Given the description of an element on the screen output the (x, y) to click on. 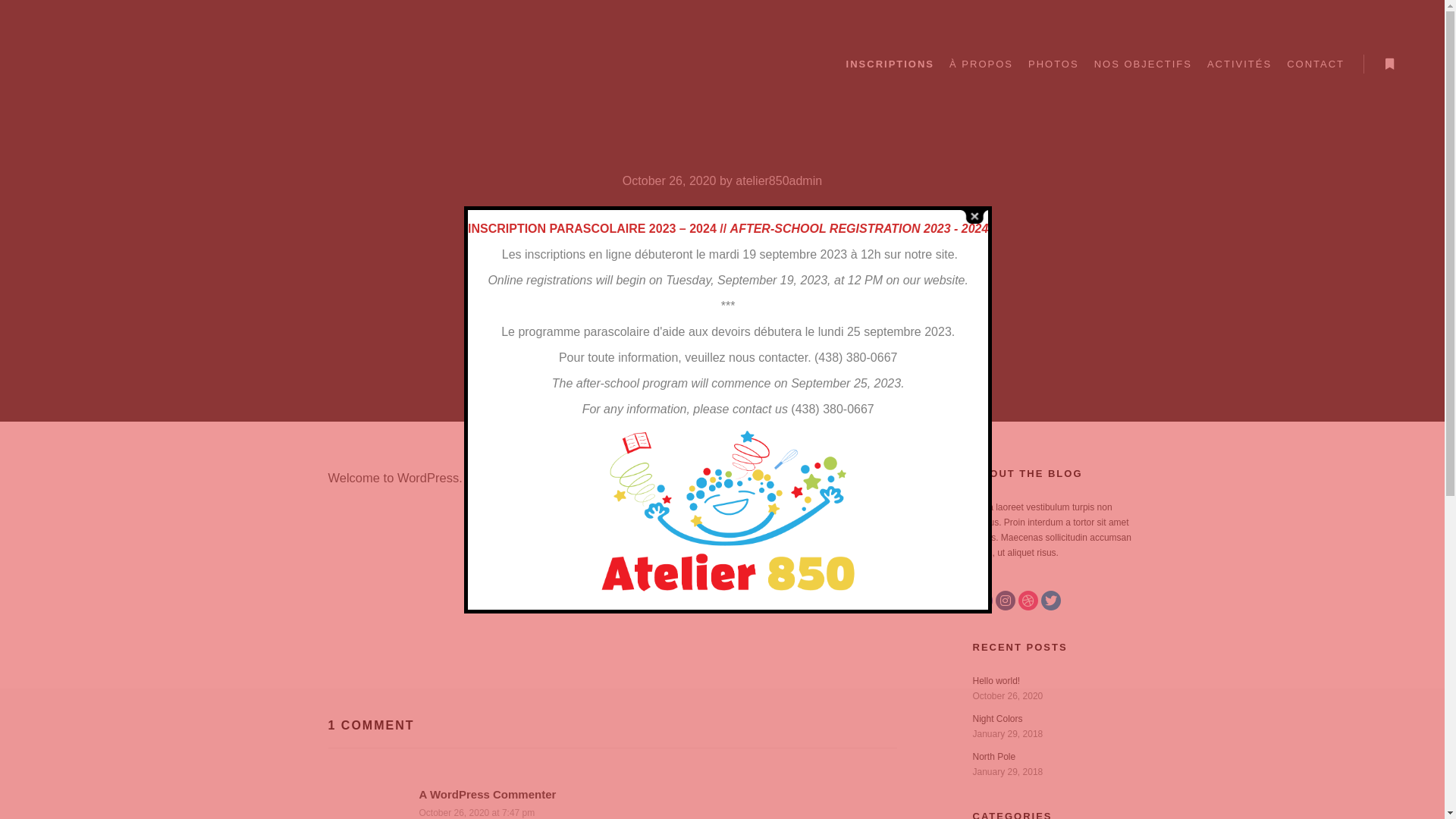
Close Element type: hover (974, 216)
Dribbble Element type: hover (1027, 600)
Night Colors Element type: text (997, 718)
A WordPress Commenter Element type: text (486, 793)
North Pole Element type: text (993, 756)
INSCRIPTIONS Element type: text (889, 64)
Atelier 850 Element type: hover (106, 64)
Twitter Element type: hover (1050, 600)
October 26, 2020 at 7:47 pm Element type: text (476, 812)
atelier850admin Element type: text (778, 180)
Instagram Element type: hover (1004, 600)
PHOTOS Element type: text (1053, 64)
Hello world! Element type: text (995, 680)
CONTACT Element type: text (1315, 64)
More info Element type: text (1388, 64)
Facebook Element type: hover (981, 600)
PREVIOUS ARTICLE
NIGHT COLORS Element type: text (611, 589)
NOS OBJECTIFS Element type: text (1142, 64)
